Given the description of an element on the screen output the (x, y) to click on. 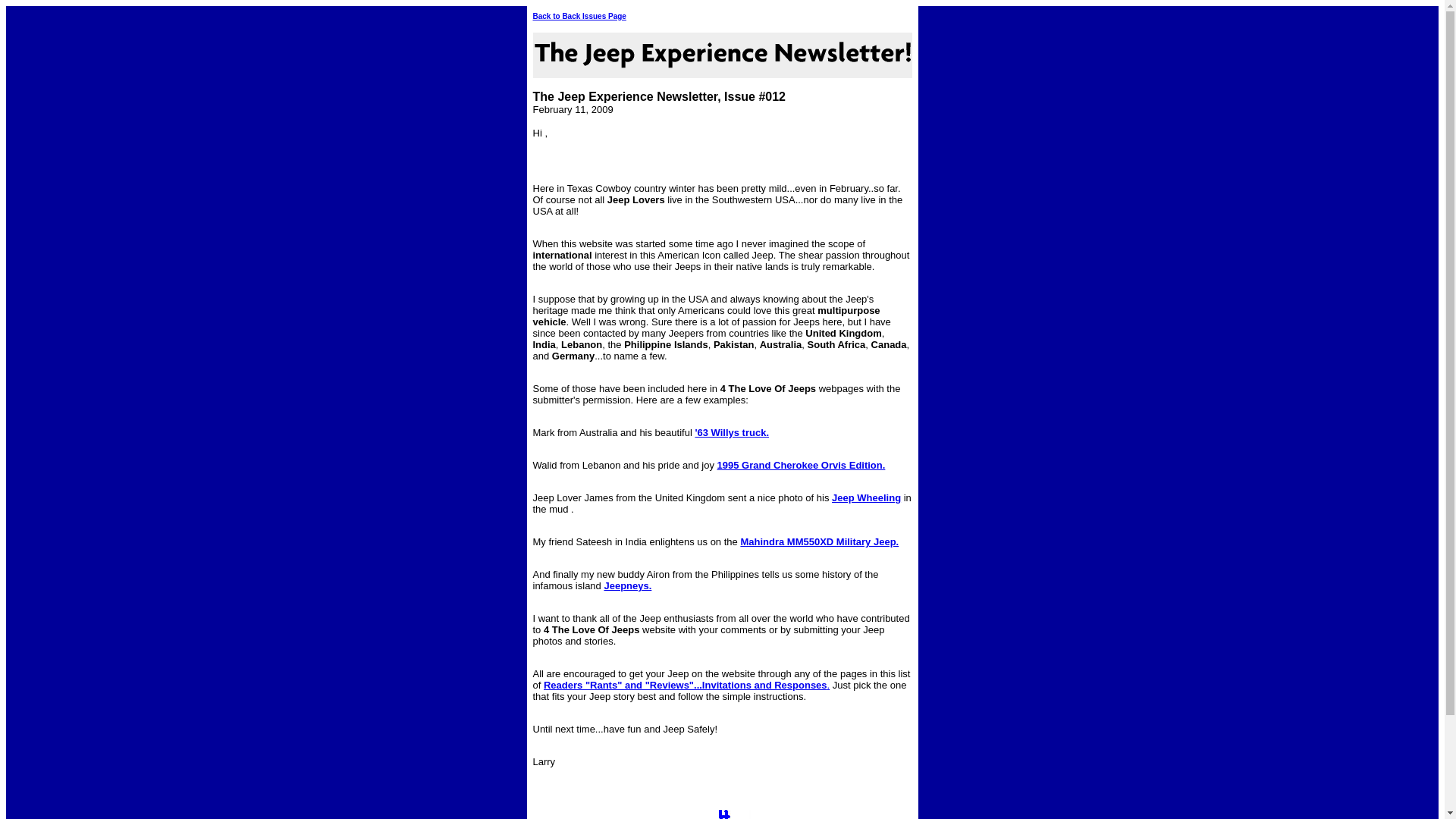
Jeepneys. Element type: text (627, 585)
Readers "Rants" and "Reviews"...Invitations and Responses. Element type: text (686, 684)
Mahindra MM550XD Military Jeep. Element type: text (819, 541)
Back to Back Issues Page Element type: text (578, 16)
Jeep Wheeling Element type: text (865, 497)
'63 Willys truck. Element type: text (731, 432)
1995 Grand Cherokee Orvis Edition. Element type: text (801, 464)
